Given the description of an element on the screen output the (x, y) to click on. 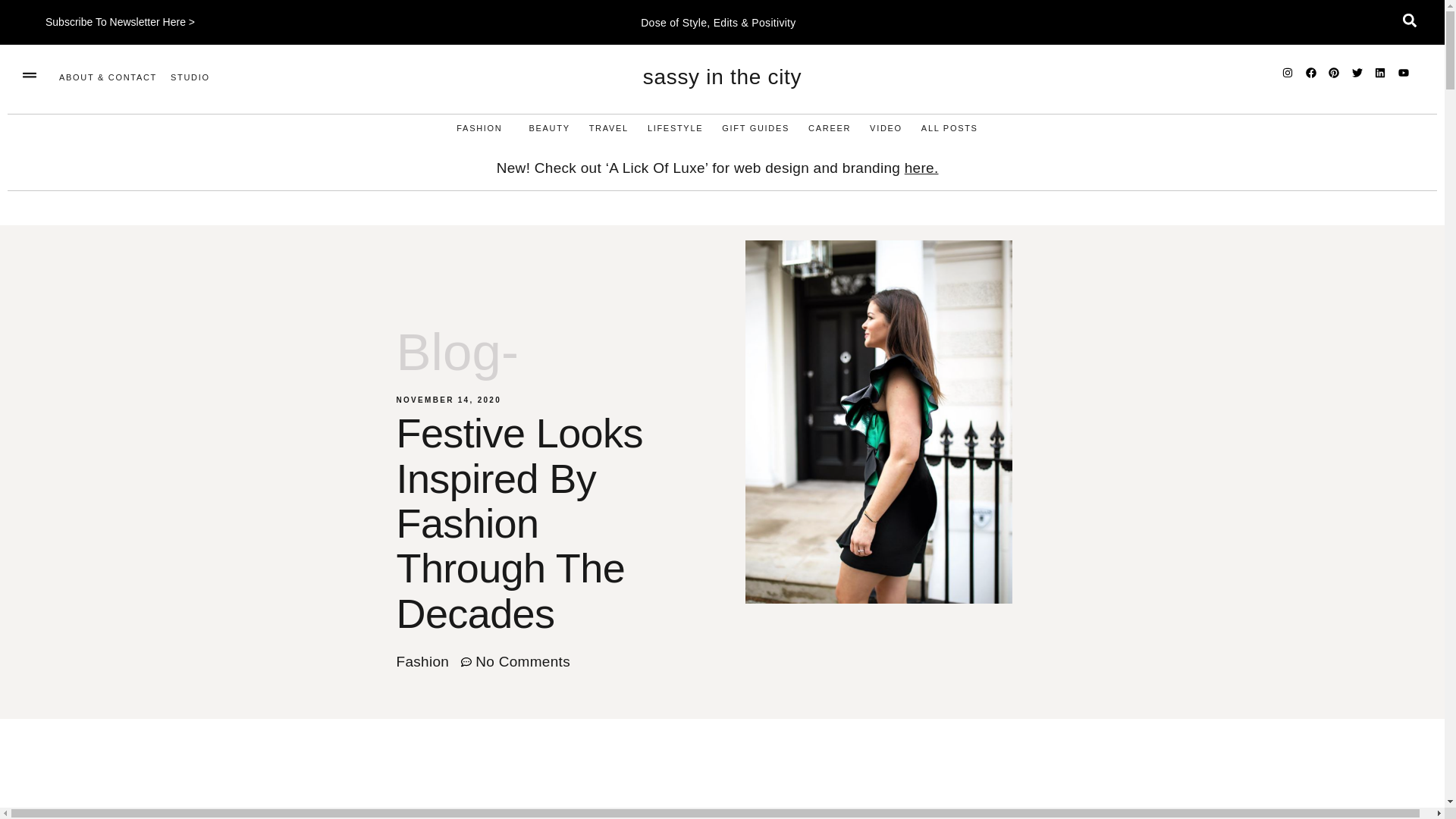
BEAUTY (548, 128)
TRAVEL (608, 128)
CAREER (829, 128)
LIFESTYLE (675, 128)
GIFT GUIDES (755, 128)
VIDEO (885, 128)
FASHION (483, 128)
STUDIO (189, 77)
ALL POSTS (949, 128)
sassy in the city (722, 76)
